Given the description of an element on the screen output the (x, y) to click on. 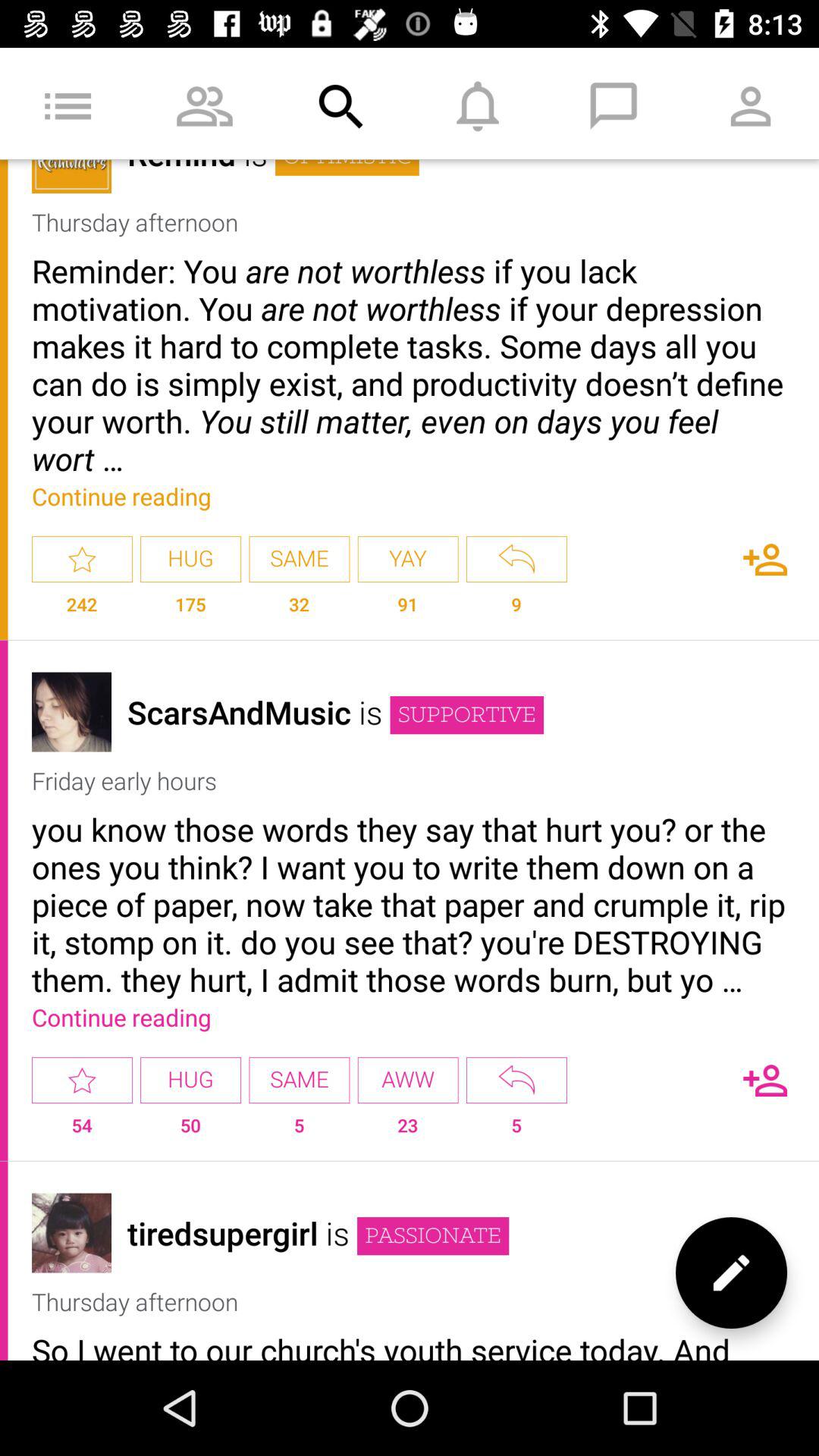
turn off the item to the left of same icon (190, 1131)
